Given the description of an element on the screen output the (x, y) to click on. 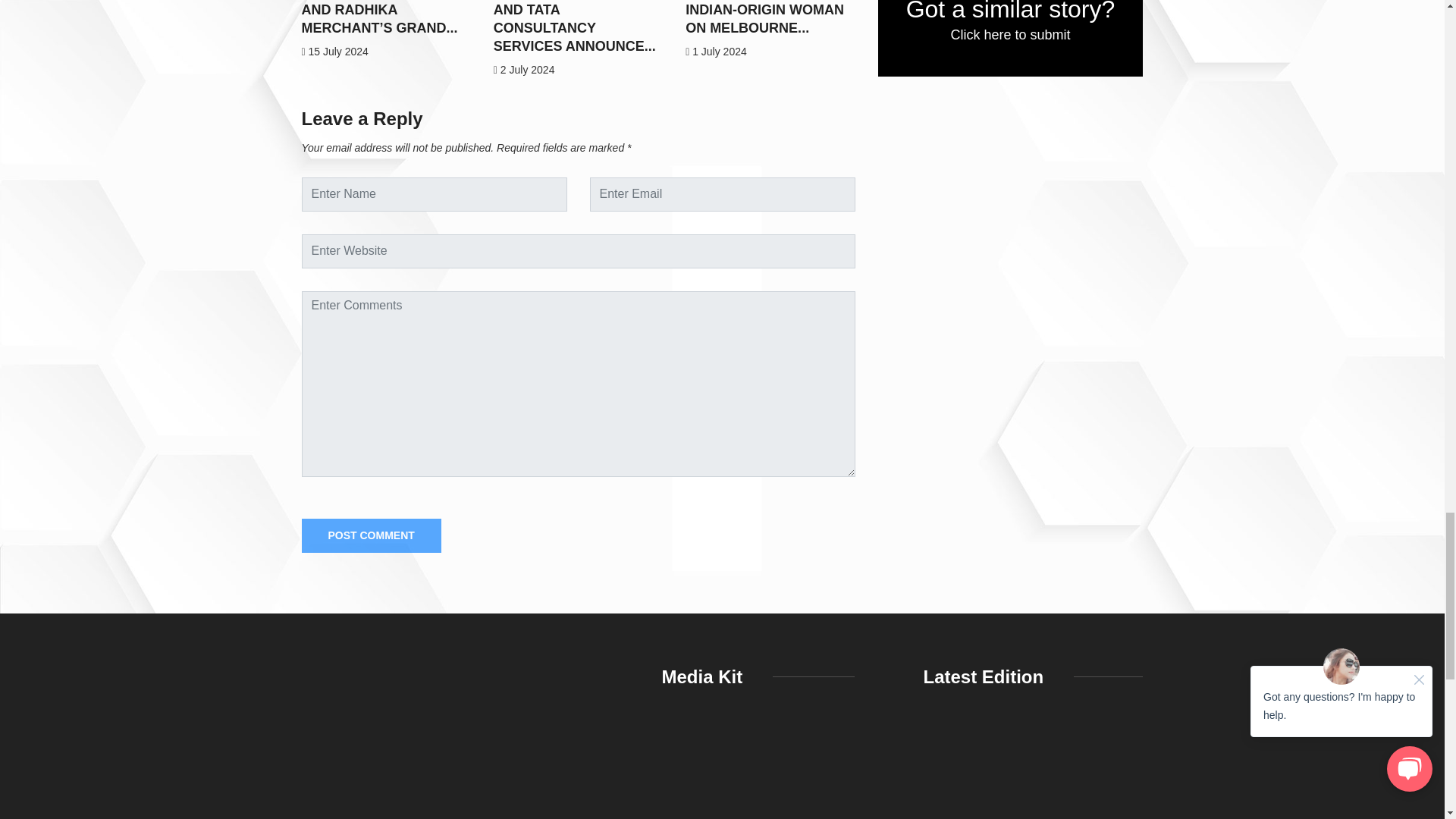
Media Kit (757, 772)
Latest Edition (1032, 772)
Post Comment (371, 535)
